Given the description of an element on the screen output the (x, y) to click on. 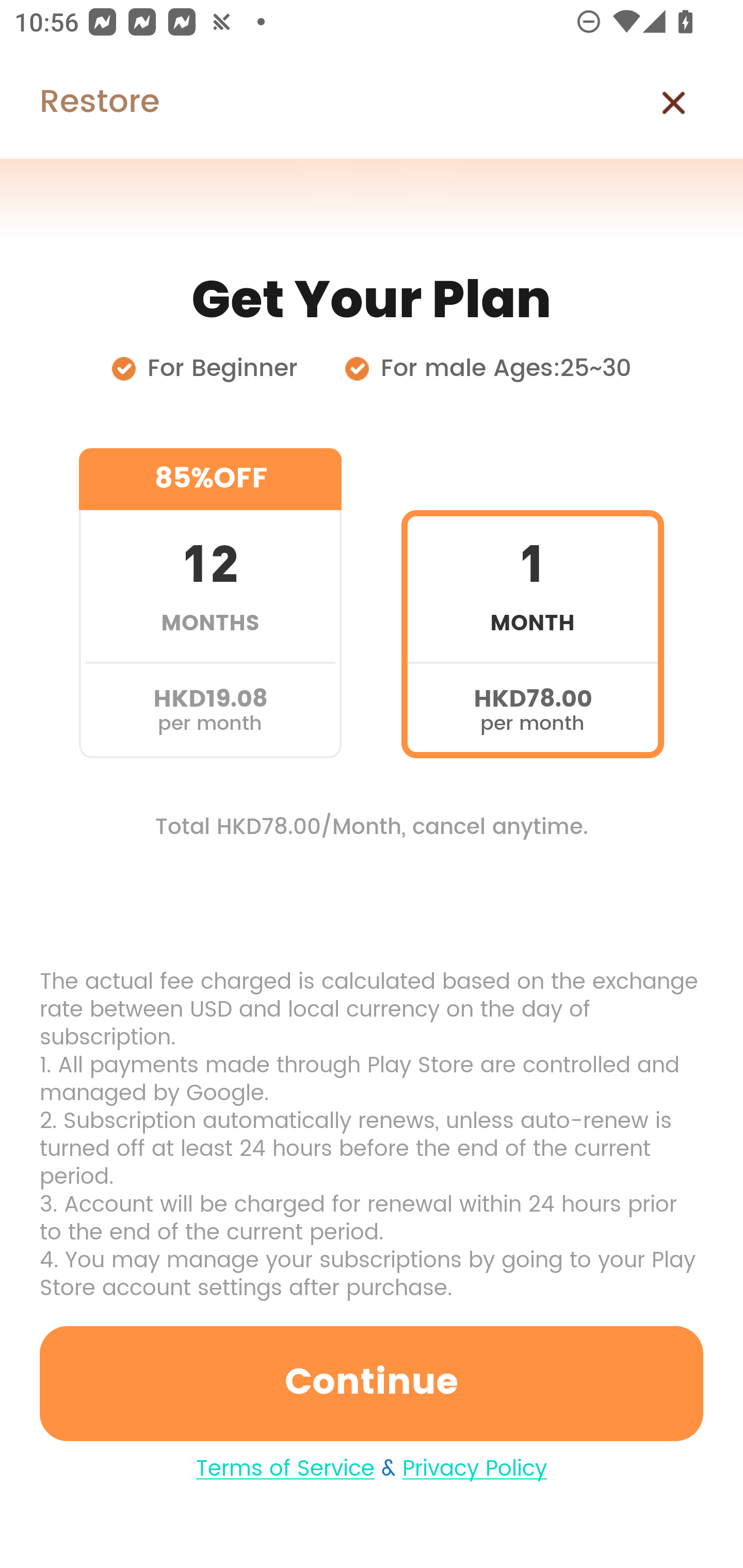
Restore (79, 102)
85%OFF 12 MONTHS per month HKD19.08 (209, 603)
1 MONTH per month HKD78.00 (532, 603)
Continue (371, 1383)
